Given the description of an element on the screen output the (x, y) to click on. 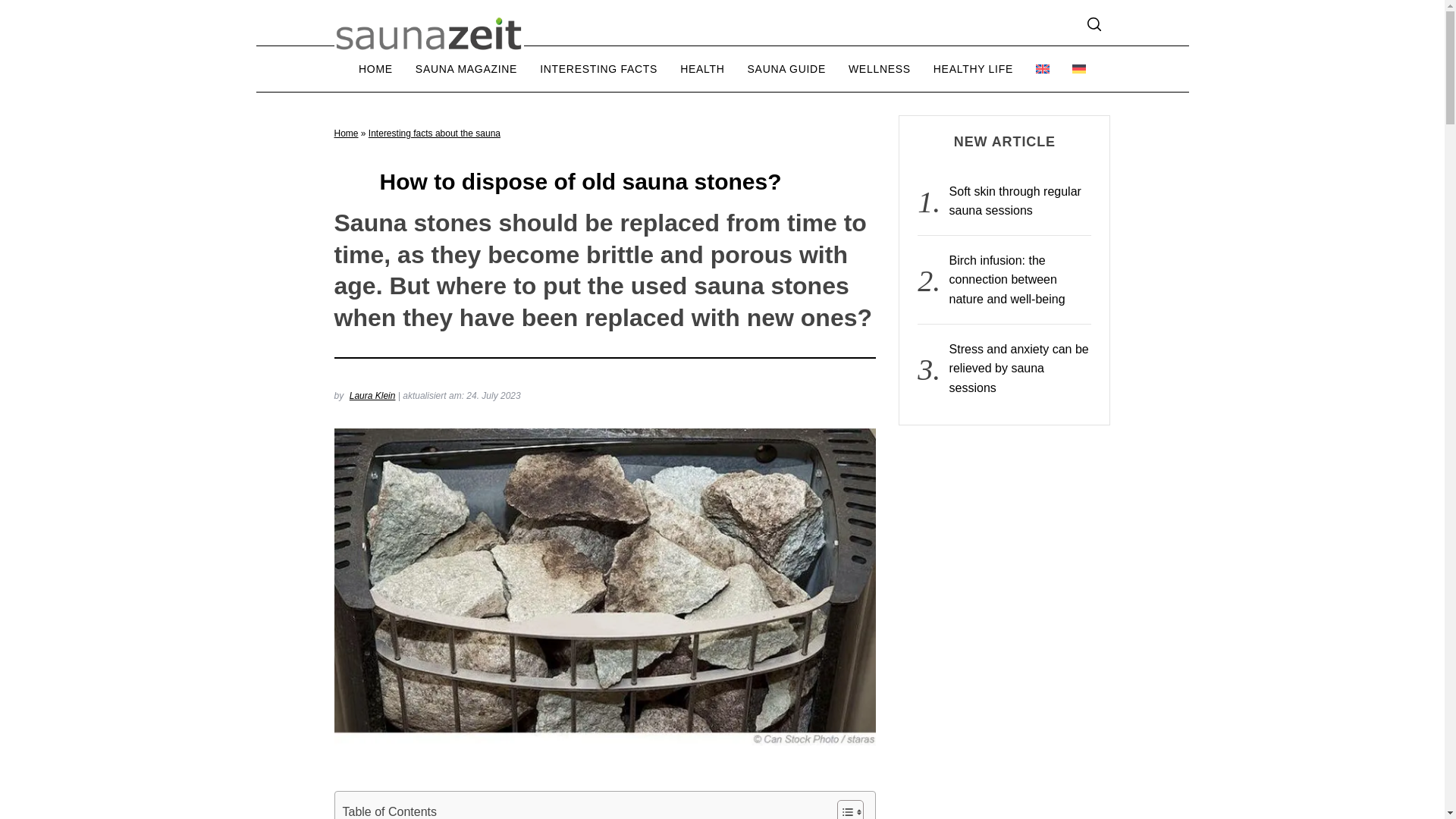
WELLNESS (879, 68)
interesting facts (598, 68)
sauna magazine (466, 68)
sauna guide (786, 68)
HEALTH (701, 68)
home (375, 68)
wellness (879, 68)
SAUNA GUIDE (786, 68)
health (701, 68)
Interesting facts about the sauna (434, 132)
